Given the description of an element on the screen output the (x, y) to click on. 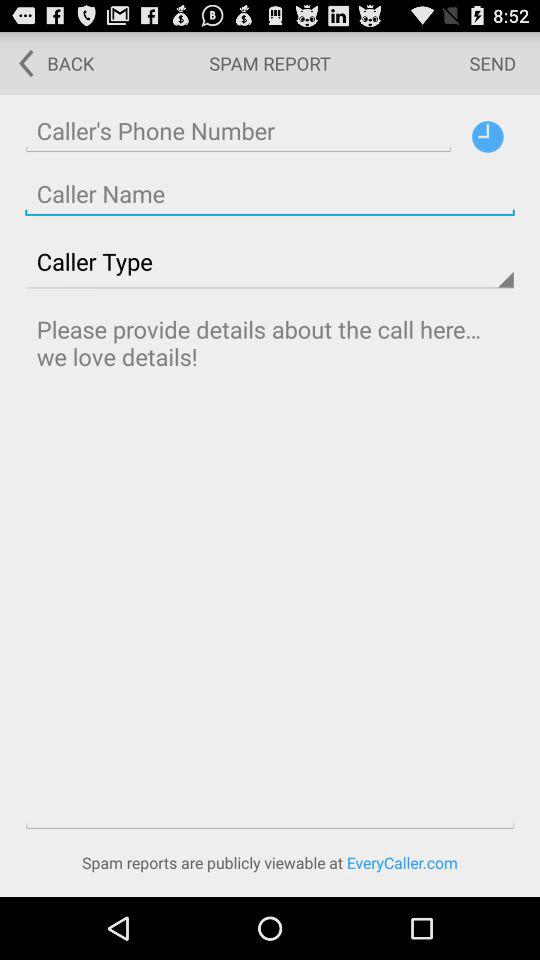
set alarm (487, 136)
